Given the description of an element on the screen output the (x, y) to click on. 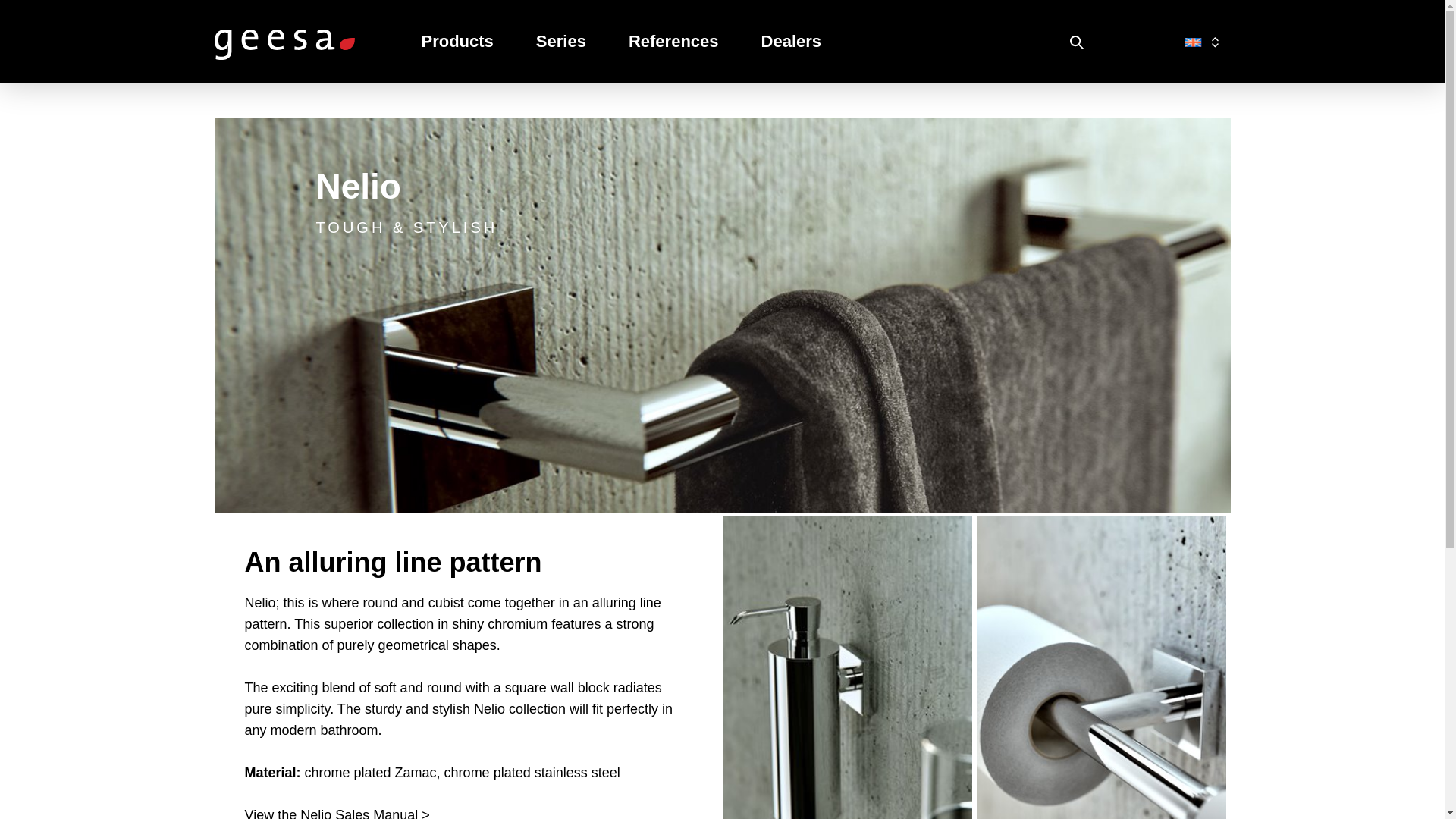
Series (561, 41)
Search (1076, 42)
References (673, 41)
Products (457, 41)
Search (1076, 42)
Search (1076, 42)
Dealers (791, 41)
